Given the description of an element on the screen output the (x, y) to click on. 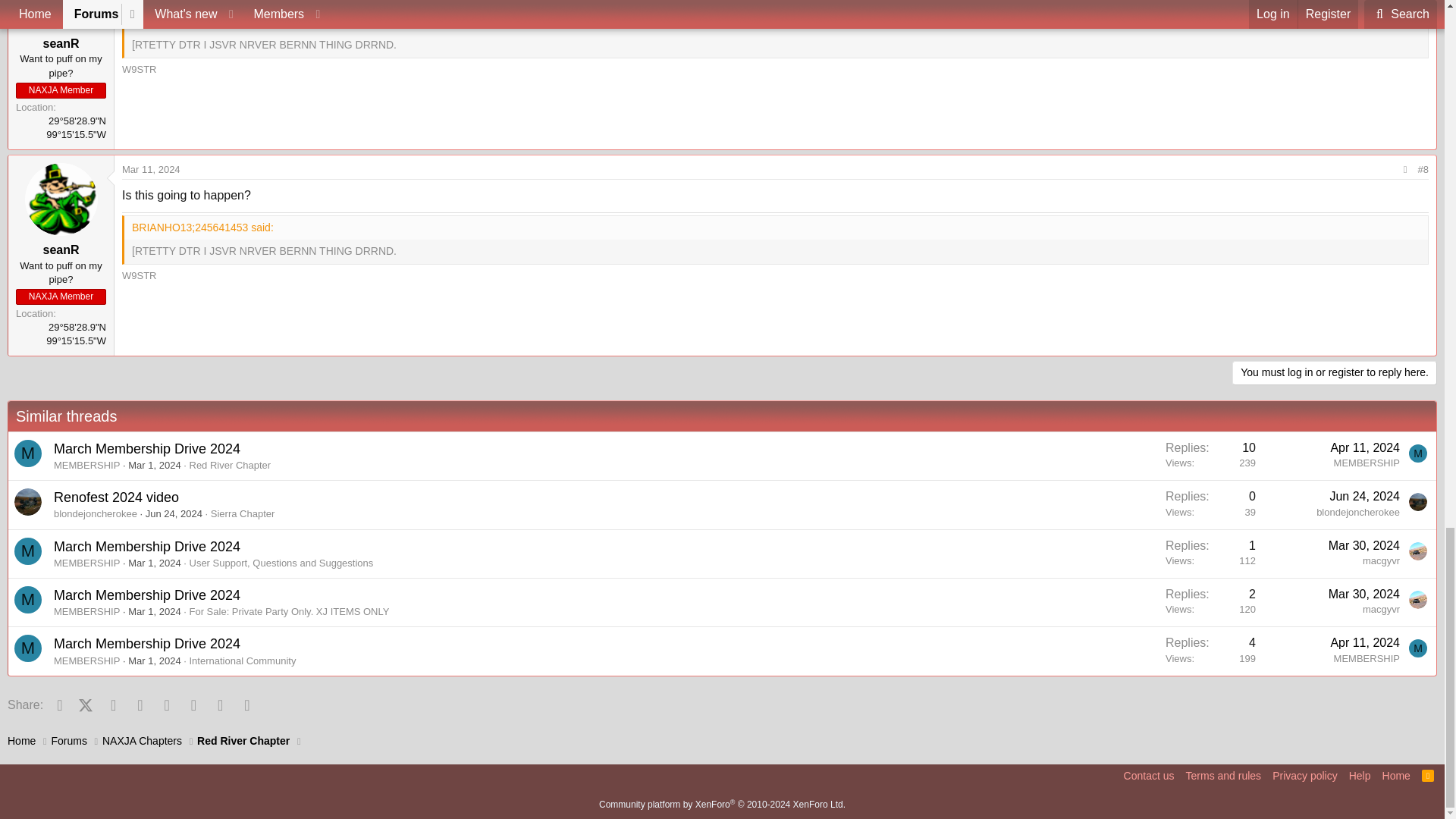
Jun 24, 2024 at 10:21 PM (173, 513)
Jun 24, 2024 at 10:21 PM (1364, 495)
Apr 11, 2024 at 12:34 AM (1364, 447)
Mar 1, 2024 at 12:51 PM (154, 464)
First message reaction score: 0 (1210, 455)
First message reaction score: 0 (1210, 504)
Mar 11, 2024 at 10:42 PM (151, 169)
